Given the description of an element on the screen output the (x, y) to click on. 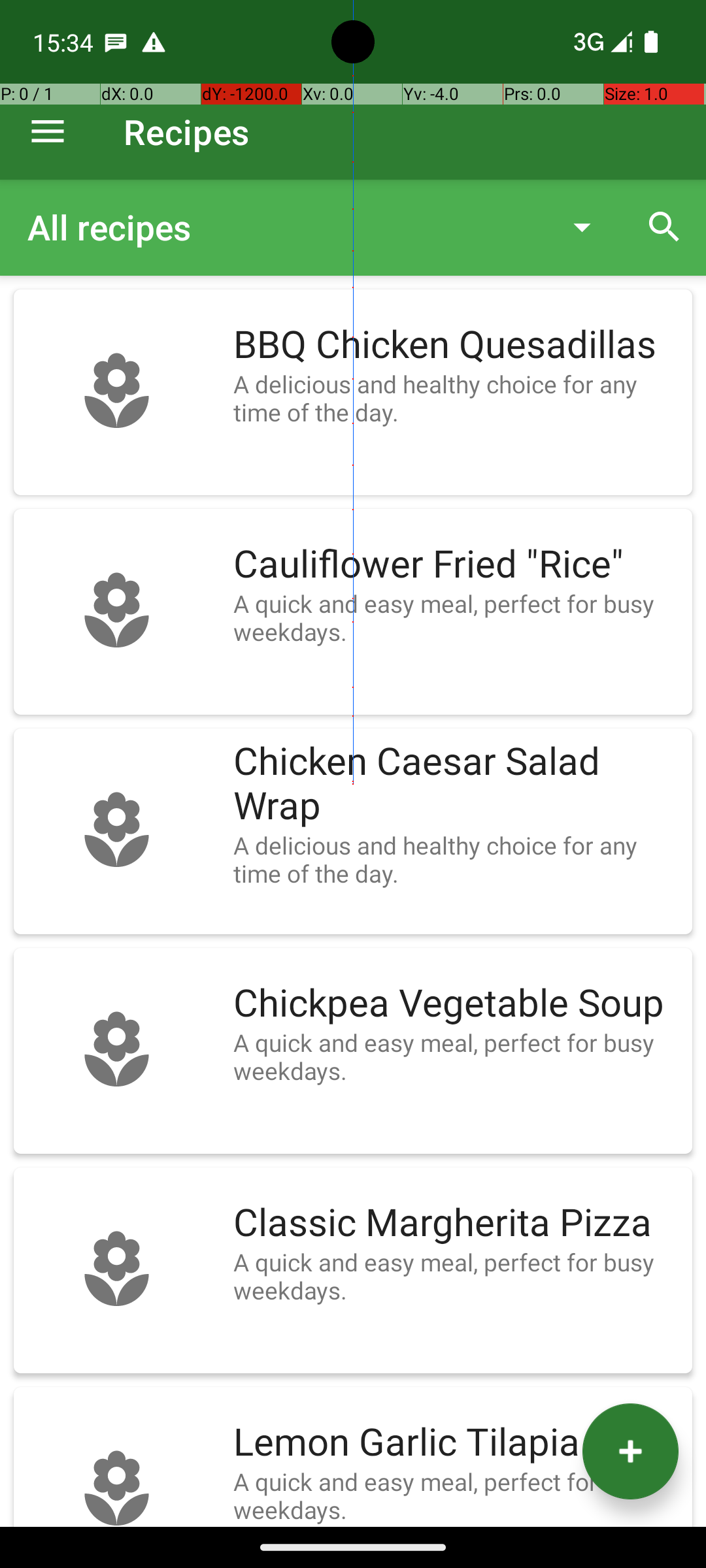
BBQ Chicken Quesadillas Element type: android.widget.TextView (455, 344)
Chicken Caesar Salad Wrap Element type: android.widget.TextView (455, 783)
Chickpea Vegetable Soup Element type: android.widget.TextView (455, 1003)
Classic Margherita Pizza Element type: android.widget.TextView (455, 1222)
Lemon Garlic Tilapia Element type: android.widget.TextView (455, 1442)
